Given the description of an element on the screen output the (x, y) to click on. 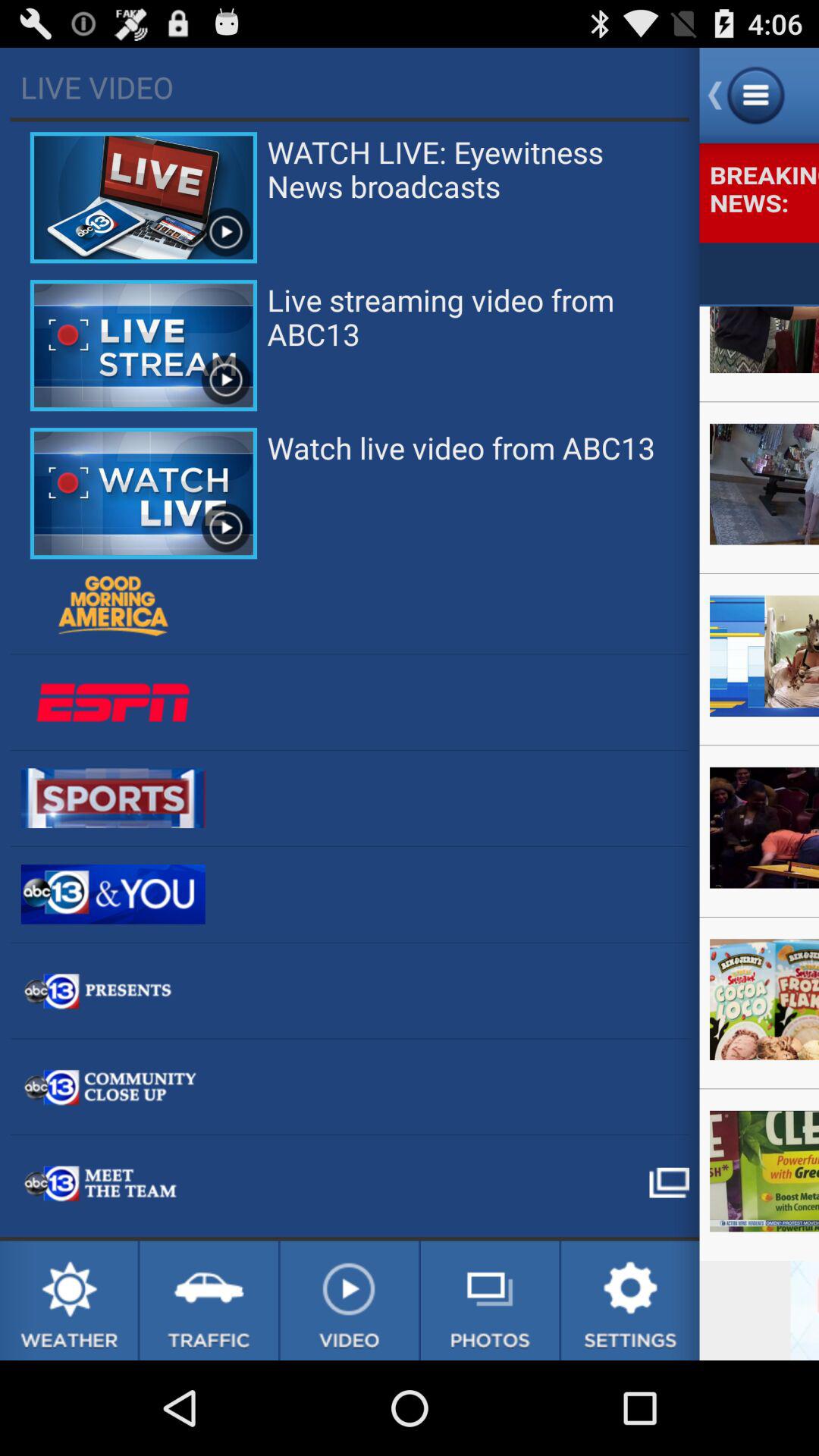
settings app (630, 1300)
